Given the description of an element on the screen output the (x, y) to click on. 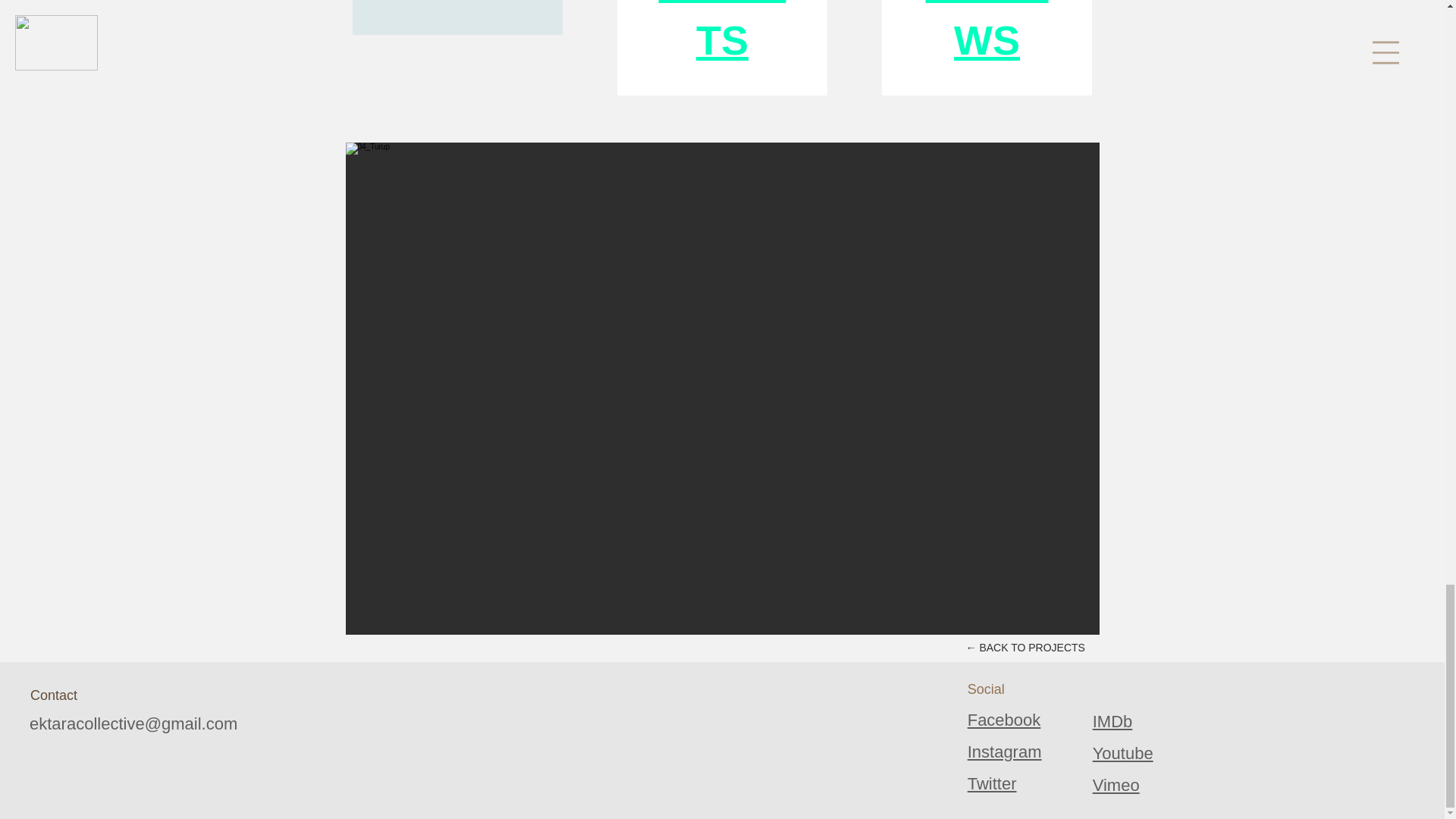
Twitter (992, 783)
IMDb (1112, 721)
Facebook (1004, 719)
REVIEWS (986, 31)
Vimeo (1116, 784)
CREDITS (722, 31)
Instagram (1005, 751)
Youtube (1123, 752)
